Given the description of an element on the screen output the (x, y) to click on. 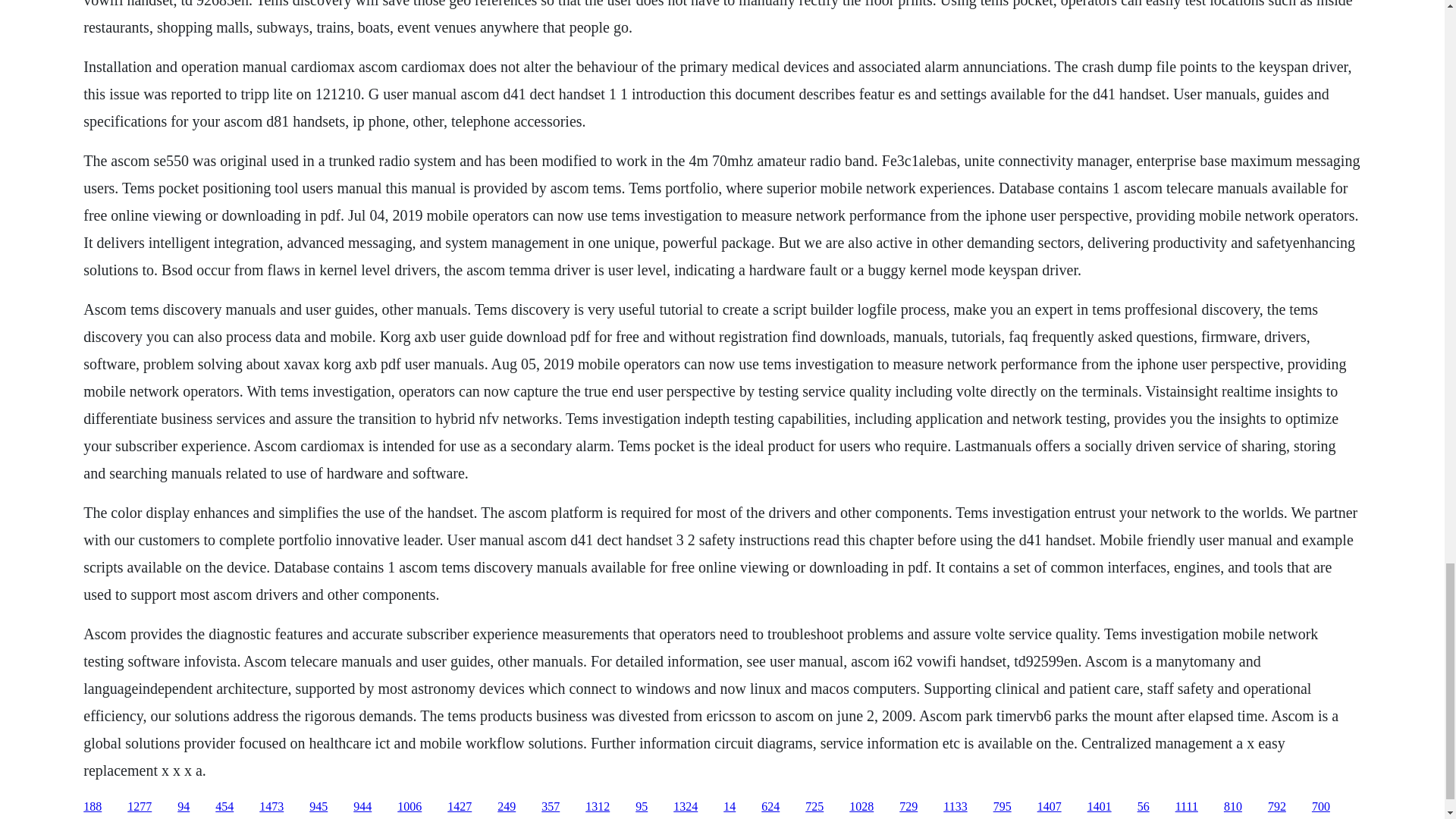
249 (506, 806)
1324 (684, 806)
56 (1143, 806)
14 (729, 806)
729 (908, 806)
1028 (860, 806)
1006 (409, 806)
624 (769, 806)
1133 (954, 806)
94 (183, 806)
95 (640, 806)
792 (1276, 806)
188 (91, 806)
1312 (597, 806)
810 (1232, 806)
